Given the description of an element on the screen output the (x, y) to click on. 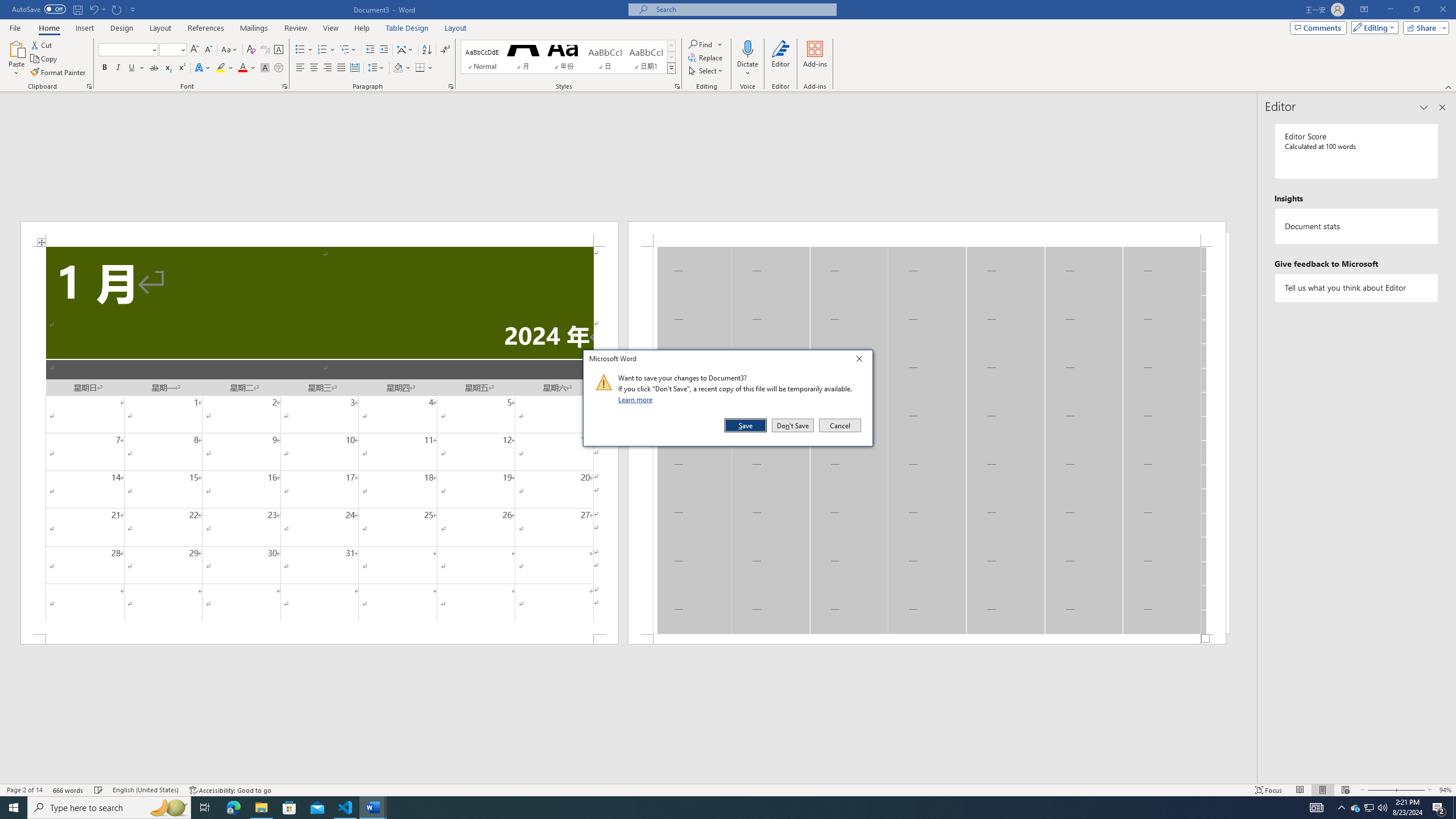
Mailings (253, 28)
Document statistics (1356, 226)
Font Size (169, 49)
Review (295, 28)
Superscript (180, 67)
Web Layout (1344, 790)
Word - 2 running windows (373, 807)
File Explorer - 1 running window (261, 807)
Class: NetUIImage (603, 382)
System (6, 6)
Read Mode (1299, 790)
Office Clipboard... (88, 85)
Microsoft Store (1368, 807)
Text Highlight Color Yellow (289, 807)
